Given the description of an element on the screen output the (x, y) to click on. 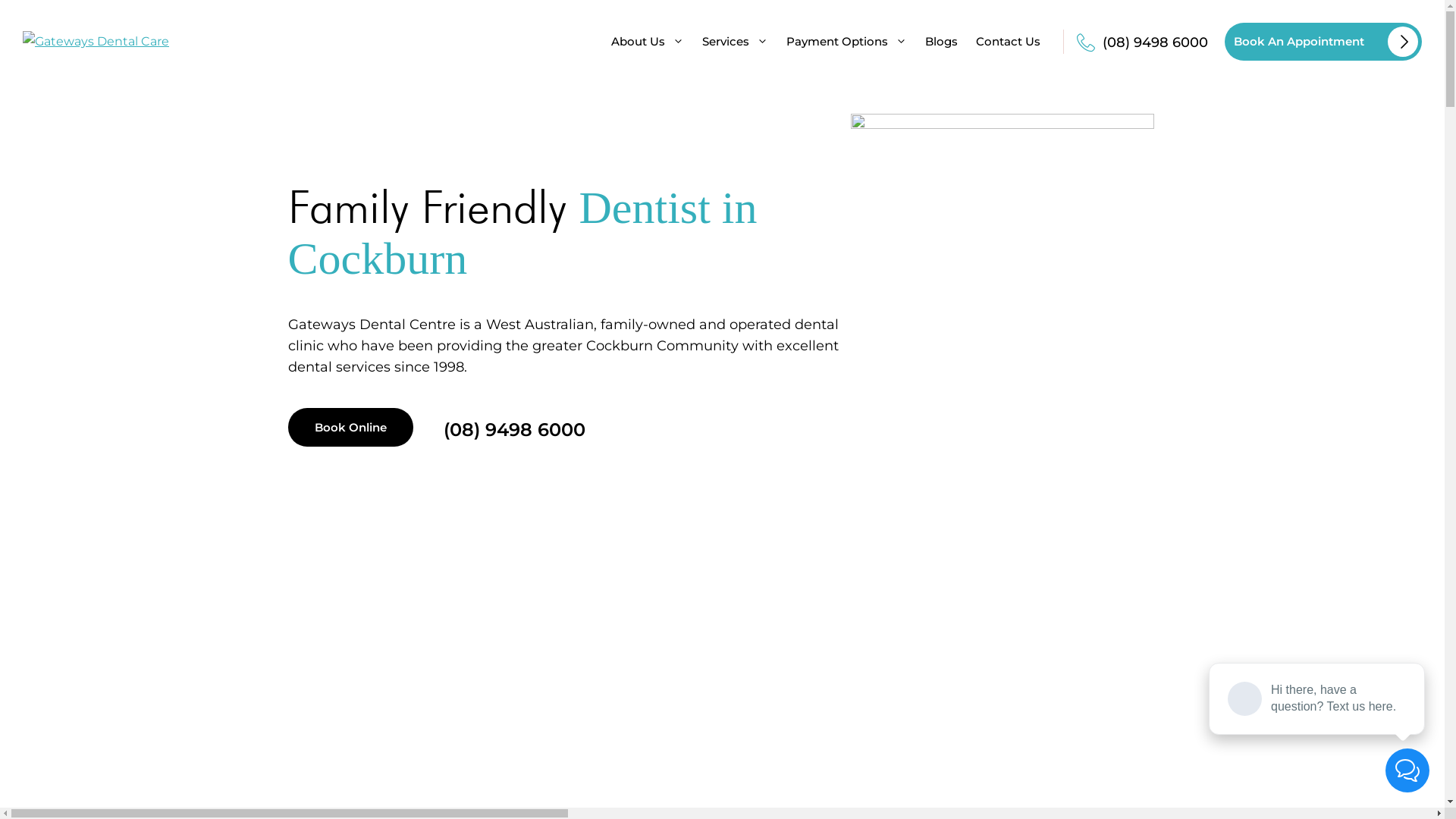
Services Element type: text (735, 41)
Gateways Dental Care Element type: hover (95, 41)
Payment Options Element type: text (846, 41)
Contact Us Element type: text (1007, 41)
Book An Appointment Element type: text (1322, 41)
Book Online Element type: text (350, 426)
(08) 9498 6000 Element type: text (498, 424)
Gateways Dental Care Element type: hover (95, 41)
About Us Element type: text (647, 41)
Blogs Element type: text (941, 41)
(08) 9498 6000 Element type: text (1140, 41)
